Given the description of an element on the screen output the (x, y) to click on. 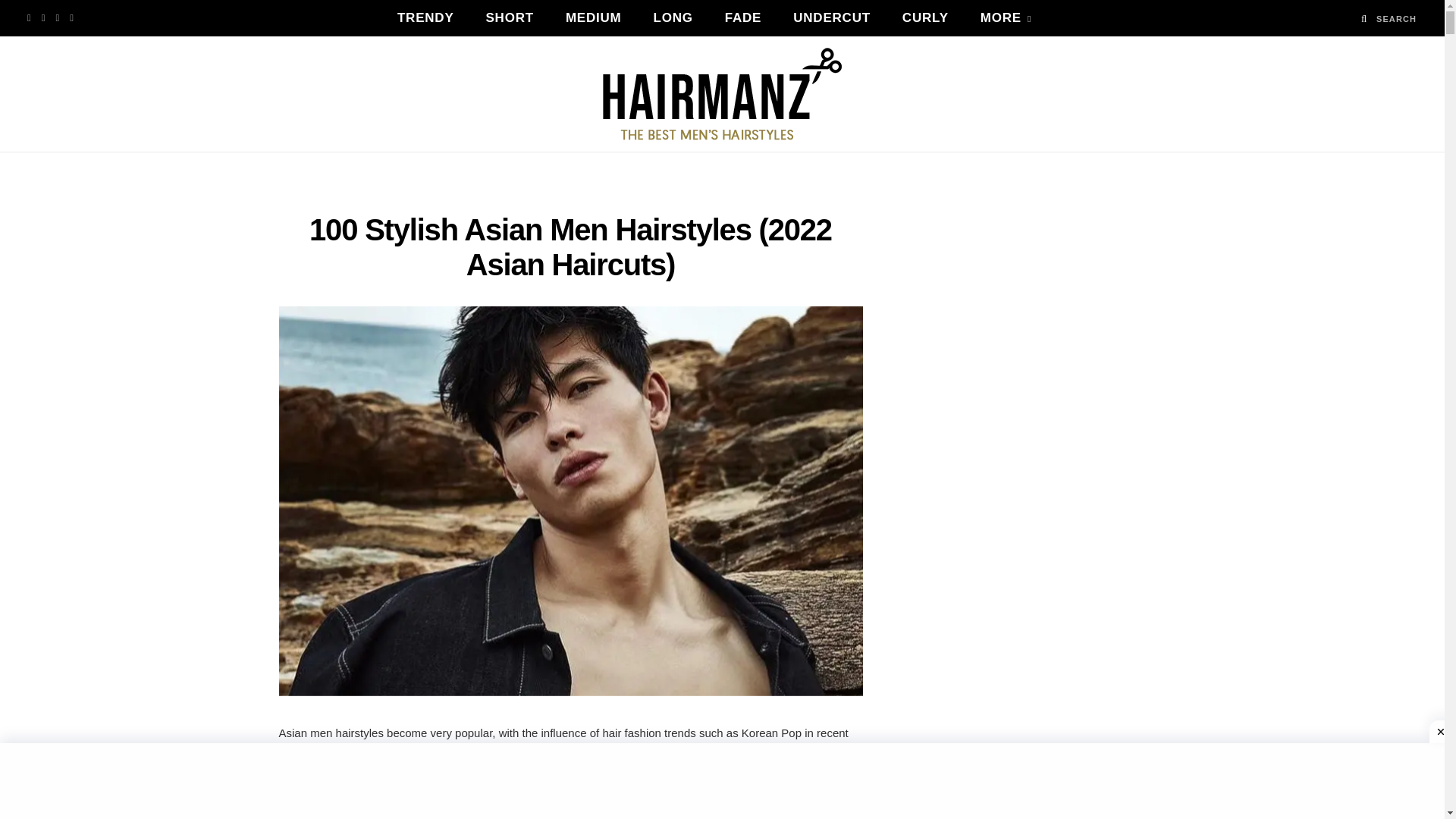
CURLY (924, 18)
UNDERCUT (831, 18)
LONG (673, 18)
SHORT (510, 18)
FADE (743, 18)
MORE (1004, 18)
MEDIUM (593, 18)
Hairmanz (721, 93)
Advertisement (571, 810)
TRENDY (425, 18)
